Given the description of an element on the screen output the (x, y) to click on. 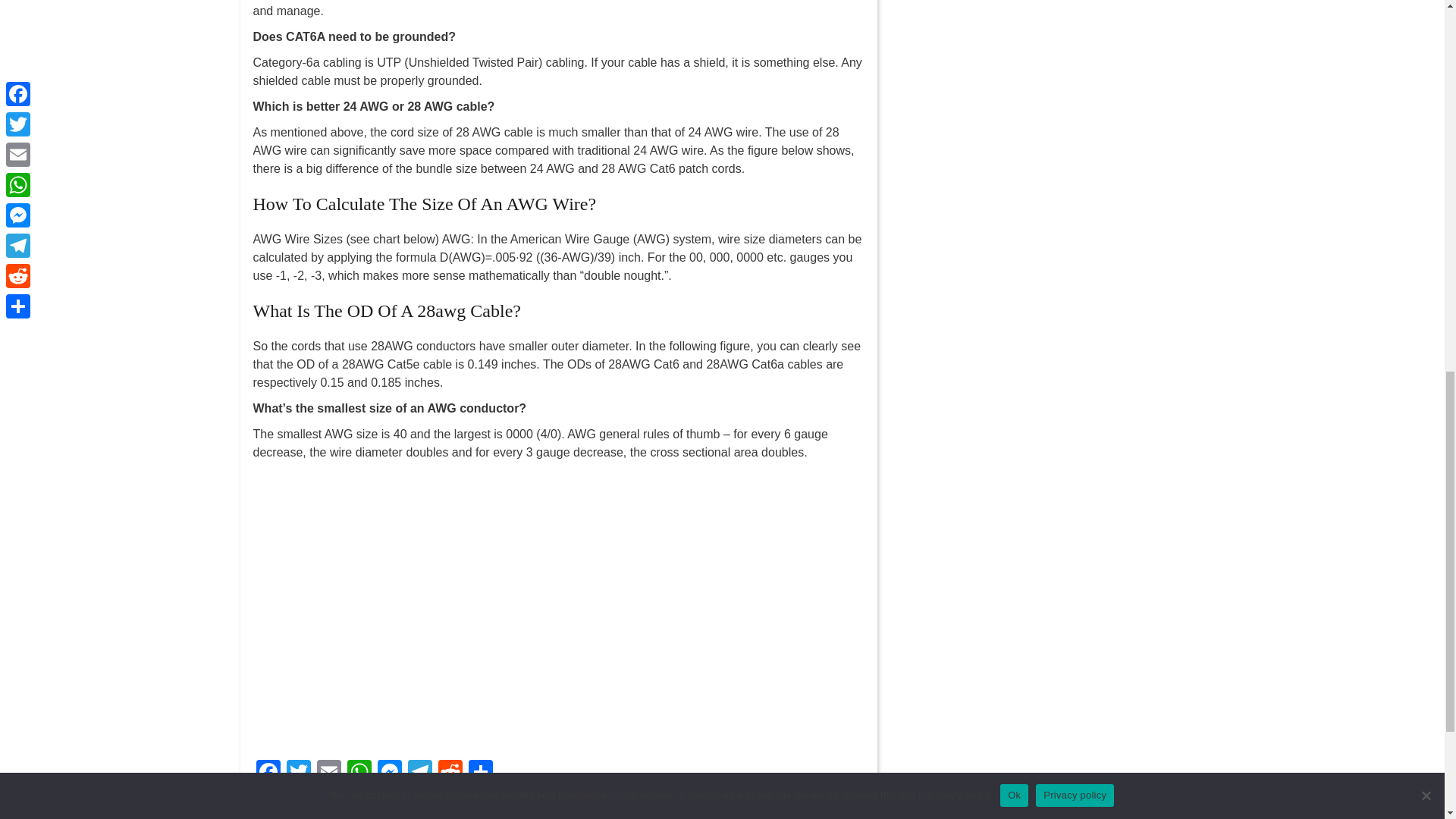
WhatsApp (358, 773)
Twitter (298, 773)
WhatsApp (358, 773)
Messenger (389, 773)
Facebook (268, 773)
Reddit (450, 773)
Messenger (389, 773)
Email (328, 773)
Email (328, 773)
Telegram (419, 773)
Reddit (450, 773)
Facebook (268, 773)
Twitter (298, 773)
Telegram (419, 773)
